Given the description of an element on the screen output the (x, y) to click on. 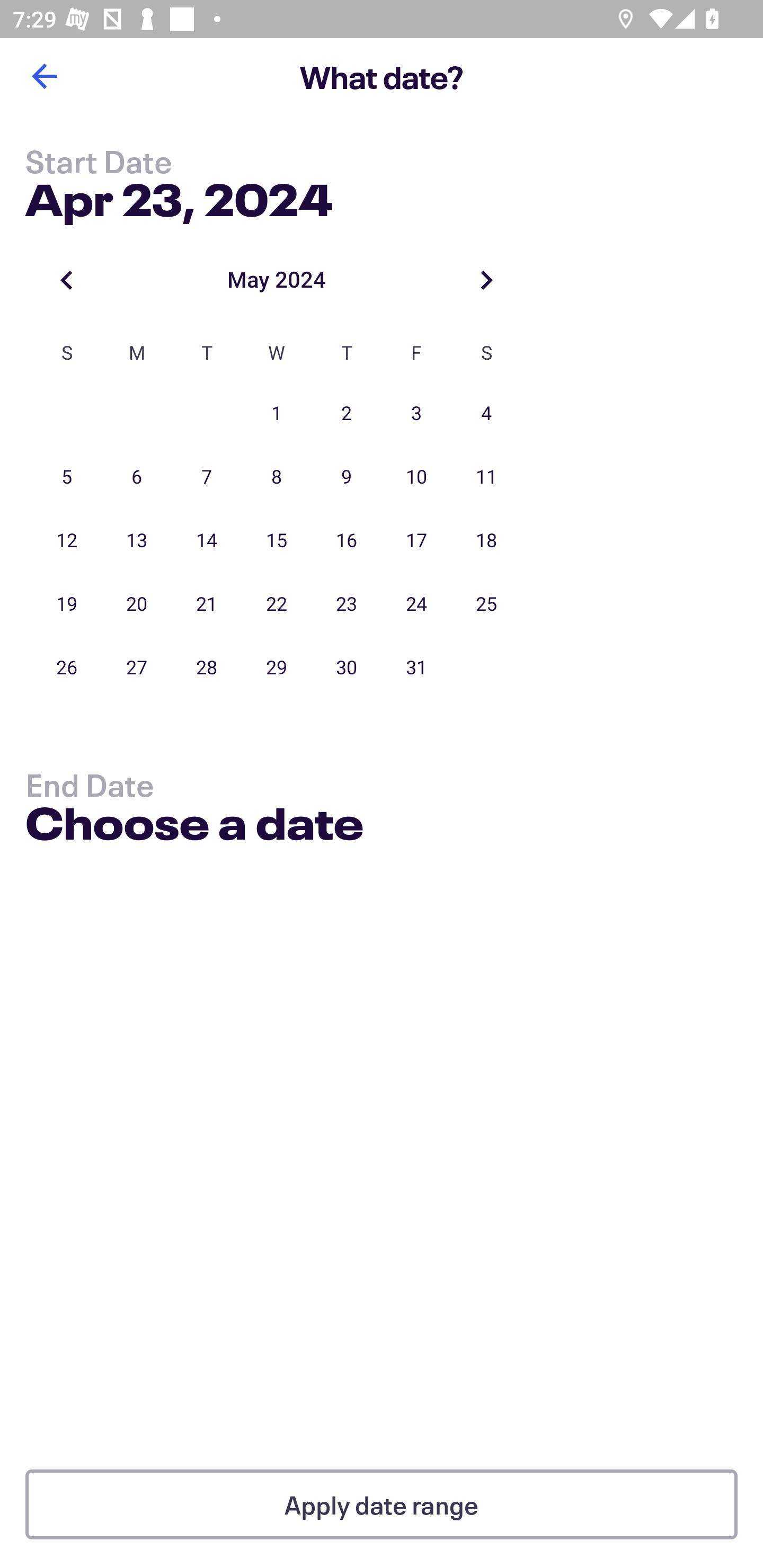
Back button (44, 75)
Apr 23, 2024 (178, 195)
Previous month (66, 279)
Next month (486, 279)
1 01 May 2024 (276, 413)
2 02 May 2024 (346, 413)
3 03 May 2024 (416, 413)
4 04 May 2024 (486, 413)
5 05 May 2024 (66, 477)
6 06 May 2024 (136, 477)
7 07 May 2024 (206, 477)
8 08 May 2024 (276, 477)
9 09 May 2024 (346, 477)
10 10 May 2024 (416, 477)
11 11 May 2024 (486, 477)
12 12 May 2024 (66, 540)
13 13 May 2024 (136, 540)
14 14 May 2024 (206, 540)
15 15 May 2024 (276, 540)
16 16 May 2024 (346, 540)
17 17 May 2024 (416, 540)
18 18 May 2024 (486, 540)
19 19 May 2024 (66, 604)
20 20 May 2024 (136, 604)
21 21 May 2024 (206, 604)
22 22 May 2024 (276, 604)
23 23 May 2024 (346, 604)
24 24 May 2024 (416, 604)
25 25 May 2024 (486, 604)
26 26 May 2024 (66, 667)
27 27 May 2024 (136, 667)
28 28 May 2024 (206, 667)
29 29 May 2024 (276, 667)
30 30 May 2024 (346, 667)
31 31 May 2024 (416, 667)
Choose a date (194, 826)
Apply date range (381, 1504)
